Given the description of an element on the screen output the (x, y) to click on. 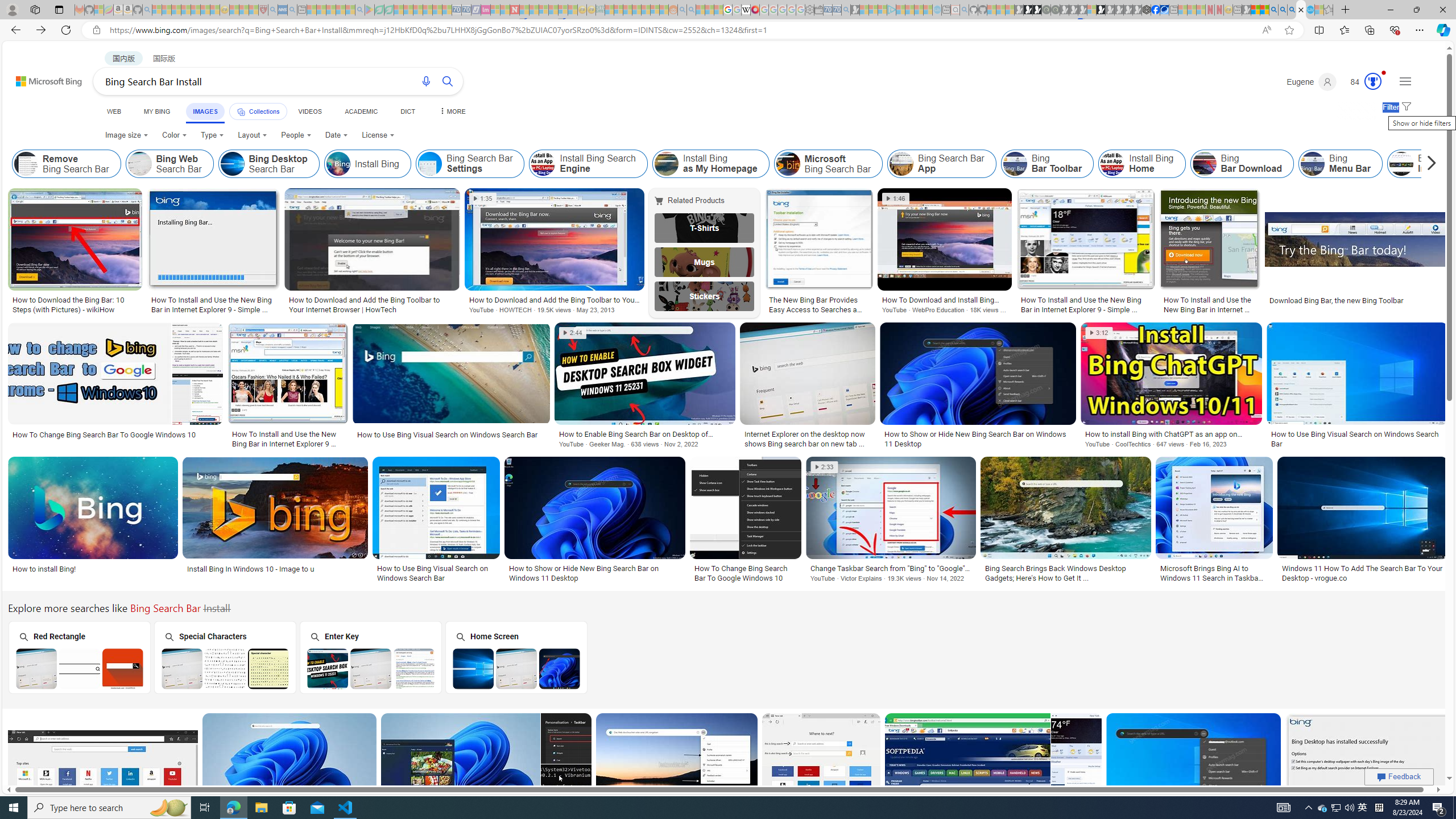
Search button (447, 80)
Install Bing as My Homepage (710, 163)
Bing Menu Bar (1339, 163)
Bing Bar Toolbar (1047, 163)
Bing Bar Download (1242, 163)
Image result for Bing Search Bar Install (1366, 763)
